Given the description of an element on the screen output the (x, y) to click on. 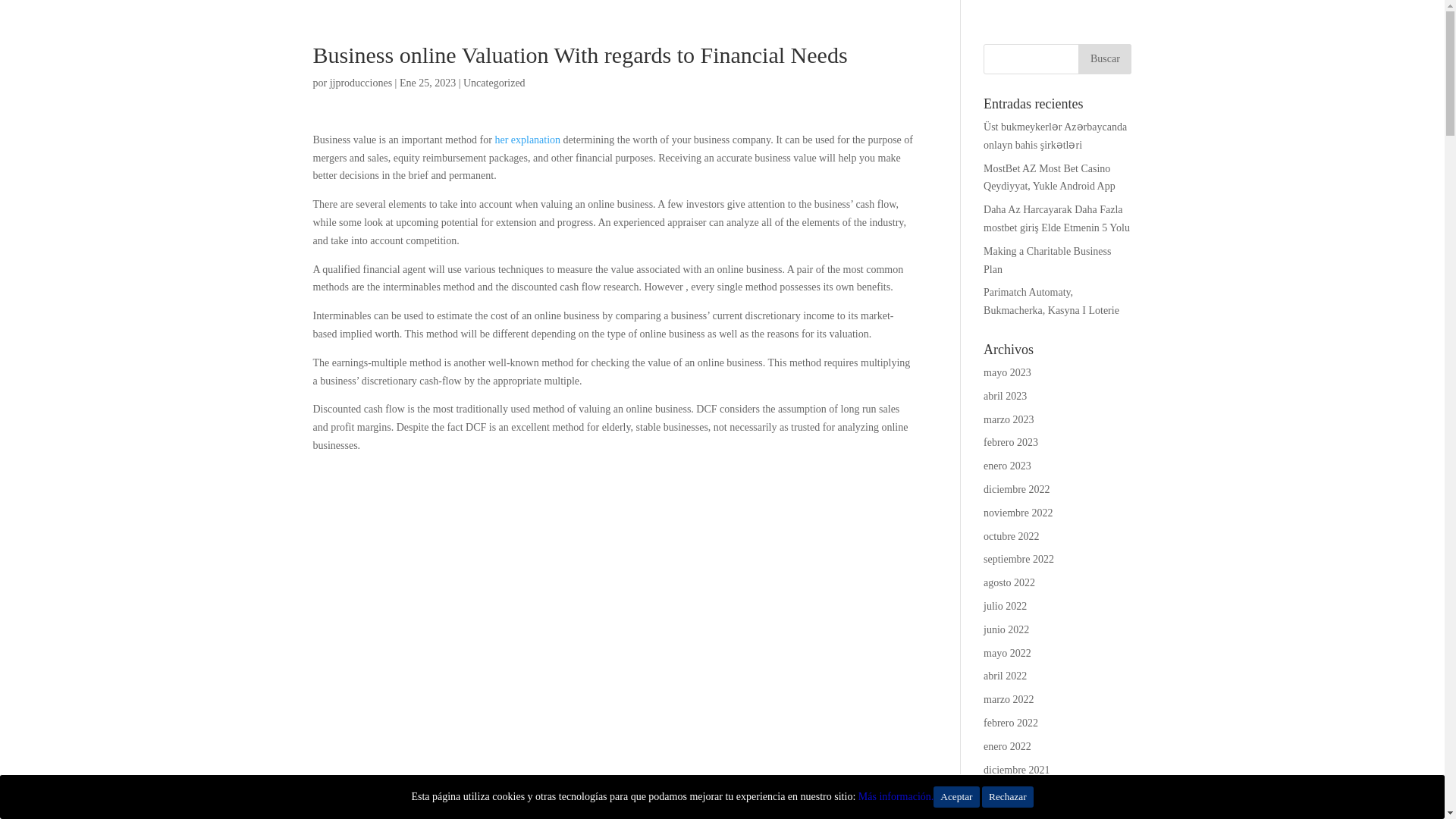
jjproducciones (360, 82)
MostBet AZ Most Bet Casino Qeydiyyat, Yukle Android App (1049, 177)
octubre 2022 (1011, 536)
septiembre 2022 (1019, 559)
abril 2023 (1005, 396)
junio 2022 (1006, 629)
enero 2023 (1007, 465)
Buscar (1104, 59)
marzo 2023 (1008, 419)
abril 2022 (1005, 675)
mayo 2022 (1007, 653)
Mensajes de jjproducciones (360, 82)
Parimatch Automaty, Bukmacherka, Kasyna I Loterie (1051, 301)
agosto 2022 (1009, 582)
mayo 2023 (1007, 372)
